Given the description of an element on the screen output the (x, y) to click on. 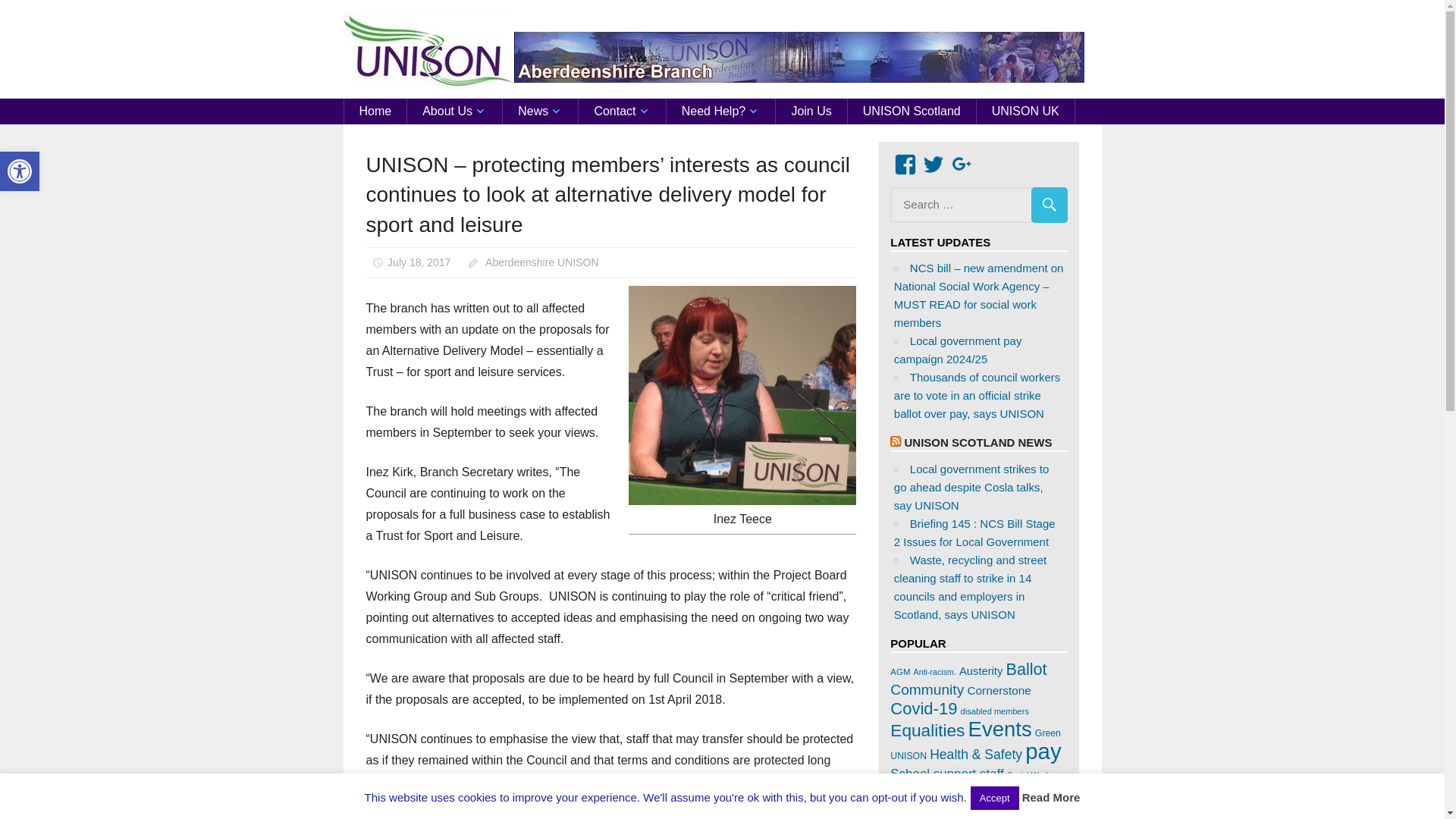
Contact (621, 111)
About Us (454, 111)
8:45 pm (418, 262)
Search for: (978, 204)
News (540, 111)
Need Help? (721, 111)
Home (375, 111)
View all posts by Aberdeenshire UNISON (19, 170)
Accessibility Tools (541, 262)
Accessibility Tools (19, 170)
